Given the description of an element on the screen output the (x, y) to click on. 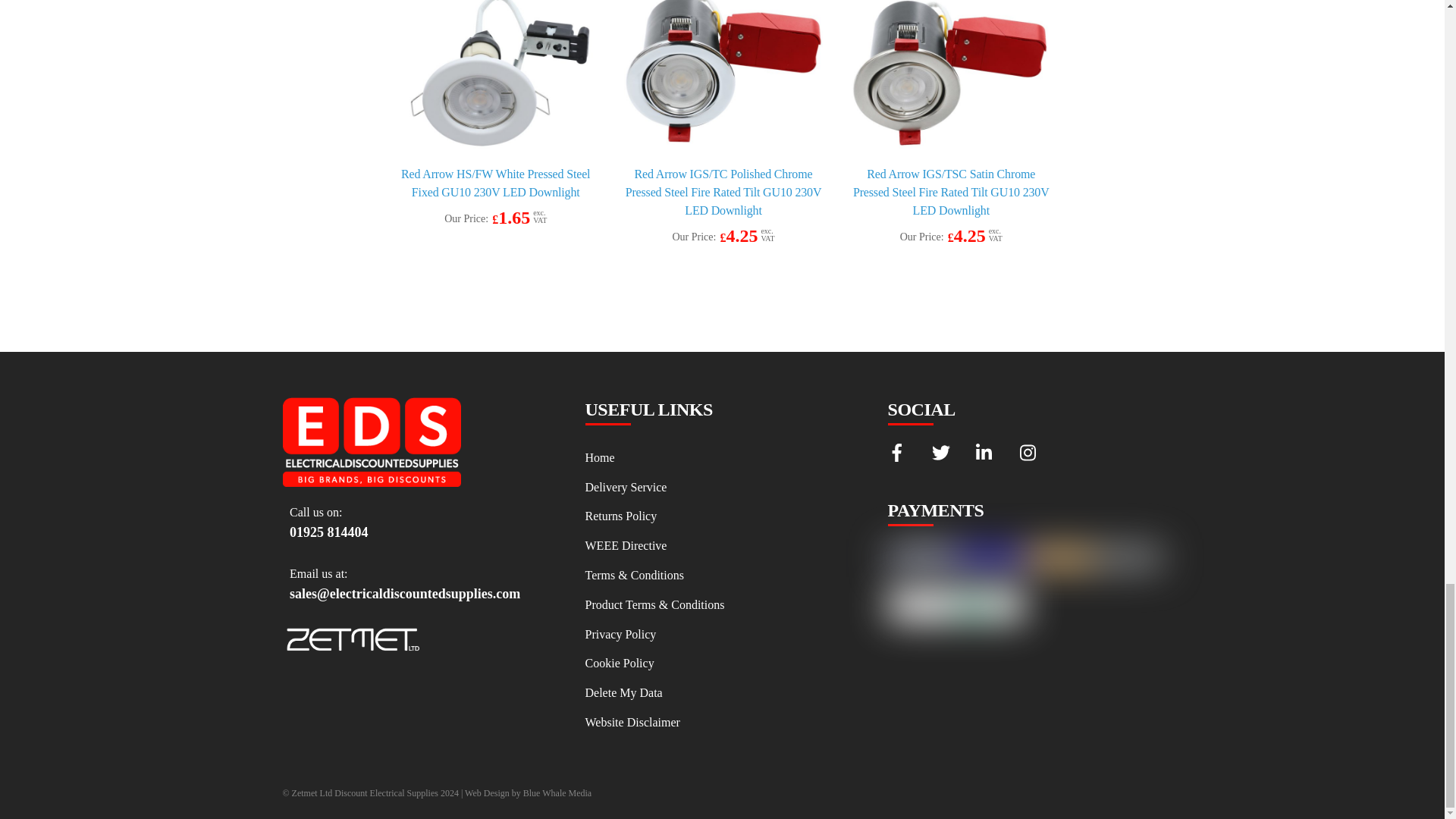
IGS-TSC Fire Rated GU10 Downlight (950, 74)
HS-FW GU10 Downlight (495, 74)
IGS-TC Fire Rated GU10 Downlight (723, 74)
